Given the description of an element on the screen output the (x, y) to click on. 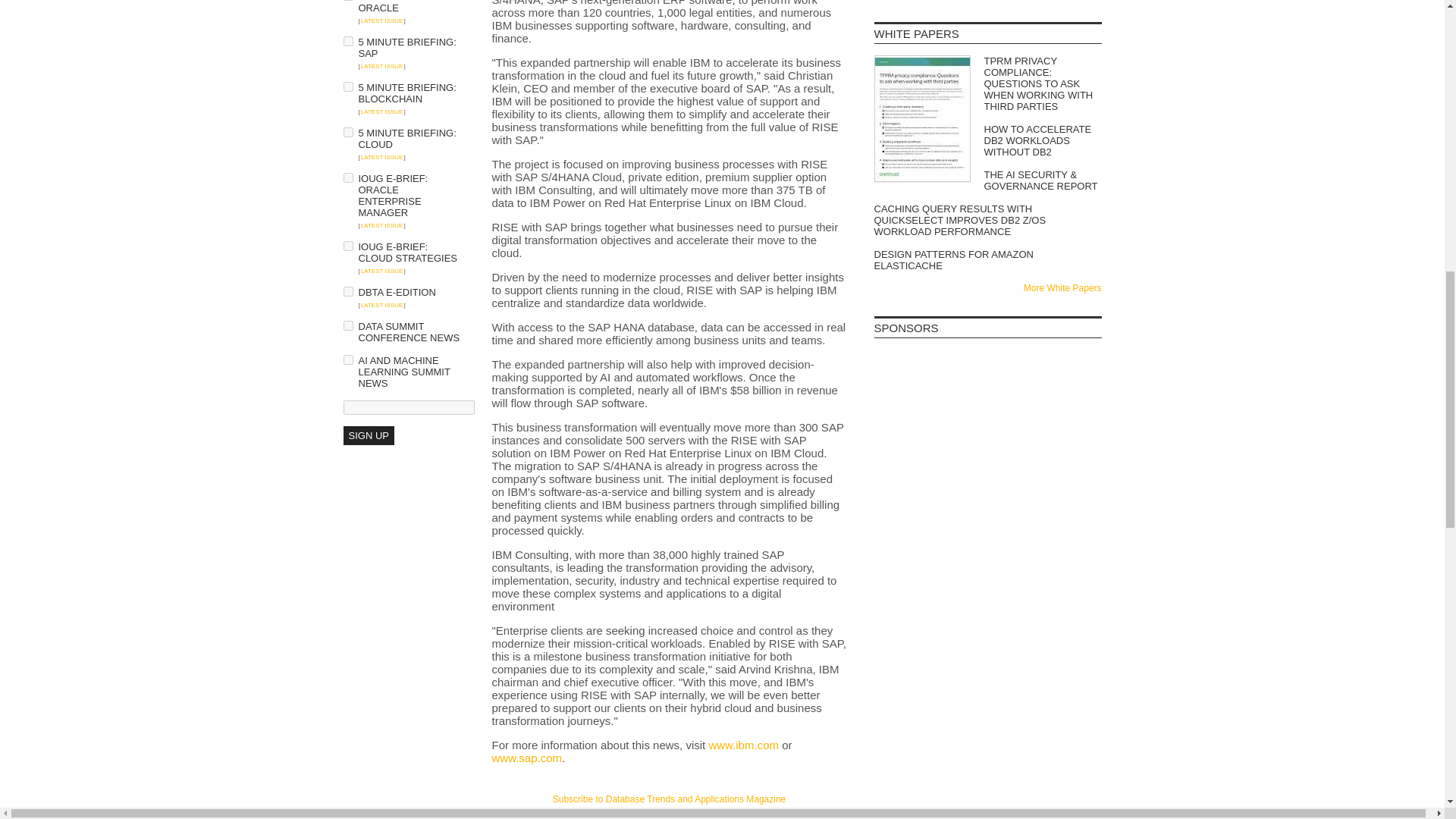
on (347, 245)
How to Accelerate DB2 Workloads Without DB2 (986, 140)
on (347, 291)
Sign Up (367, 435)
3rd party ad content (403, 637)
on (347, 177)
on (347, 325)
Design patterns for Amazon ElastiCache (986, 259)
3rd party ad content (986, 569)
3rd party ad content (986, 478)
on (347, 132)
3rd party ad content (668, 815)
on (347, 40)
3rd party ad content (986, 387)
